Given the description of an element on the screen output the (x, y) to click on. 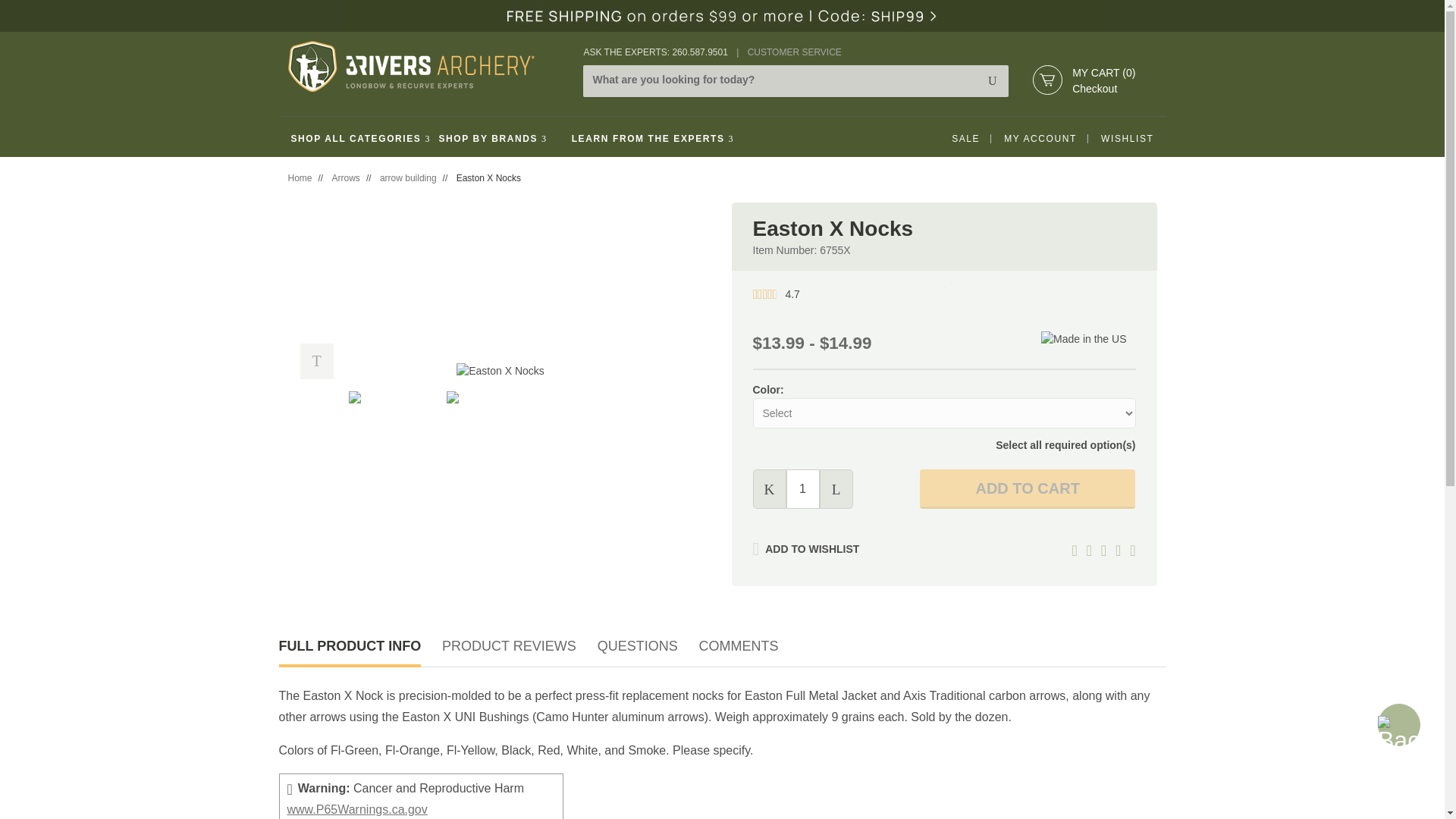
Shopping Cart (1048, 79)
My Account (1040, 138)
Add to Cart (1027, 488)
3Rivers Archery Supply (427, 65)
My Wishlist (1127, 138)
3Rivers Archery Supply (411, 65)
Sale (965, 138)
